Given the description of an element on the screen output the (x, y) to click on. 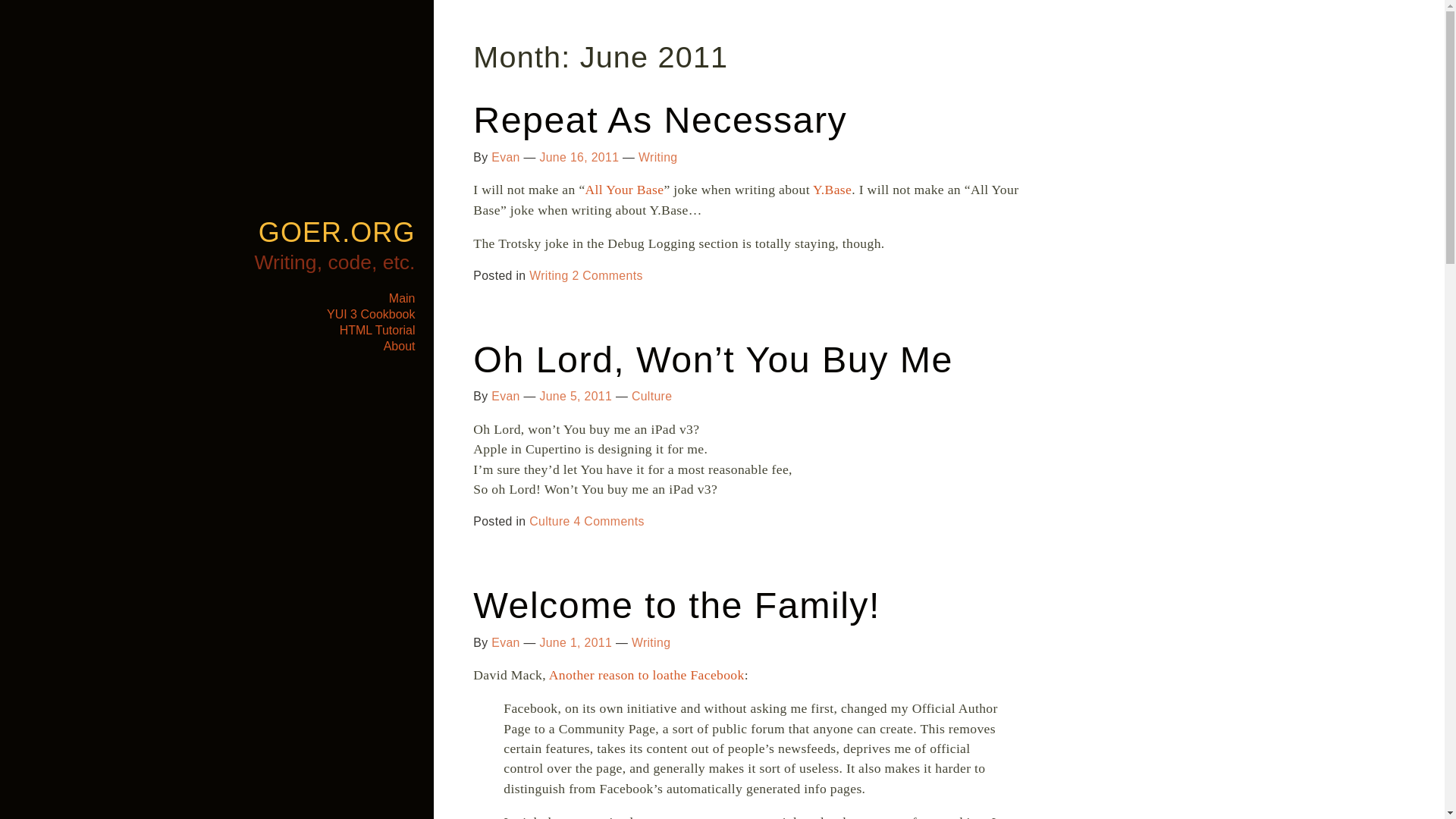
Culture (651, 395)
2 Comments (607, 275)
GOER.ORG (336, 232)
Main (401, 297)
June 16, 2011 (578, 156)
Welcome to the Family! (676, 604)
All Your Base (624, 189)
Repeat As Necessary (660, 119)
Evan (505, 156)
Evan (505, 642)
Evan (505, 395)
Another reason to loathe Facebook (646, 674)
YUI 3 Cookbook (370, 314)
Writing (658, 156)
Writing (650, 642)
